Given the description of an element on the screen output the (x, y) to click on. 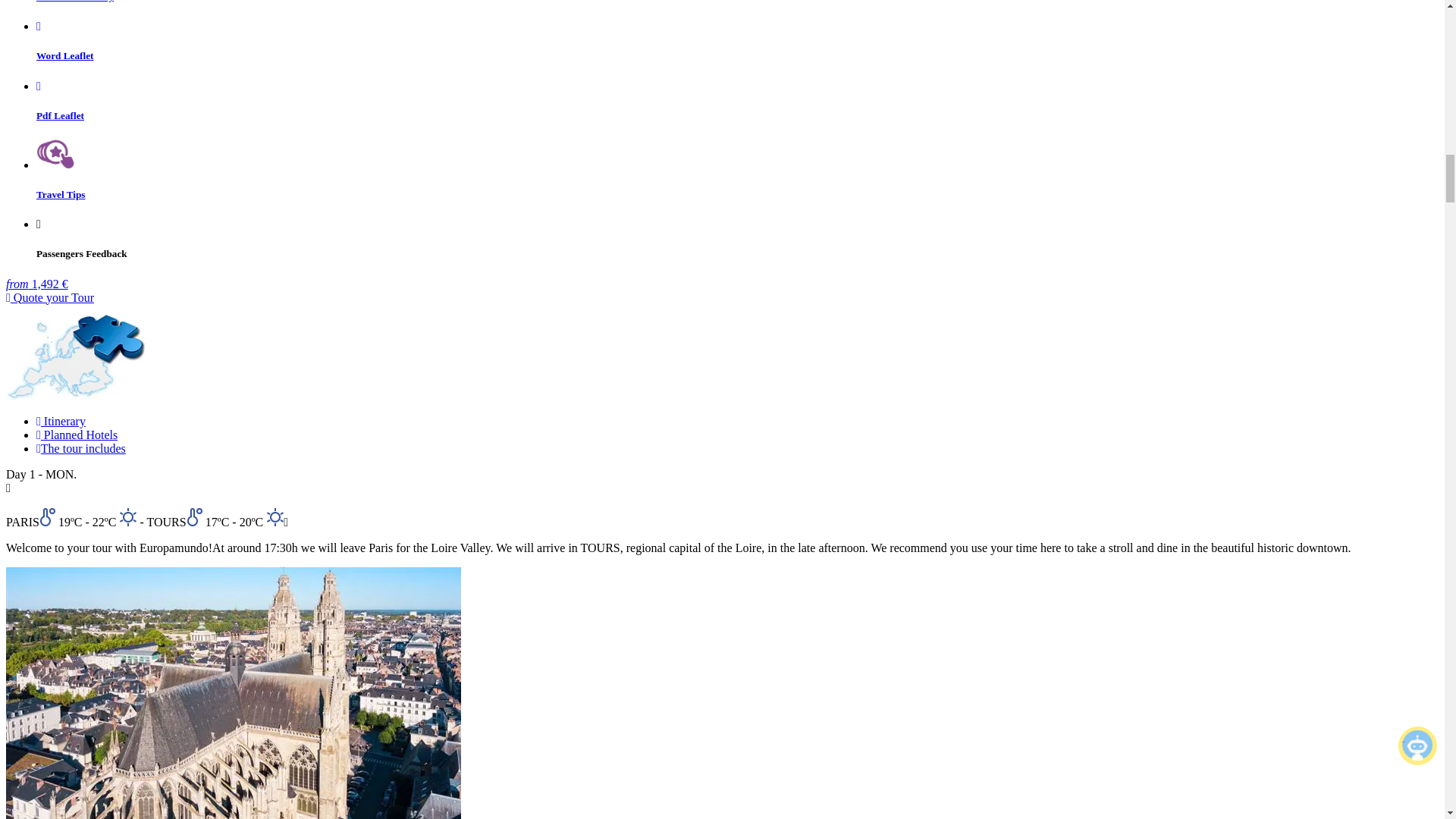
clear sky (274, 516)
clear sky (127, 516)
